Given the description of an element on the screen output the (x, y) to click on. 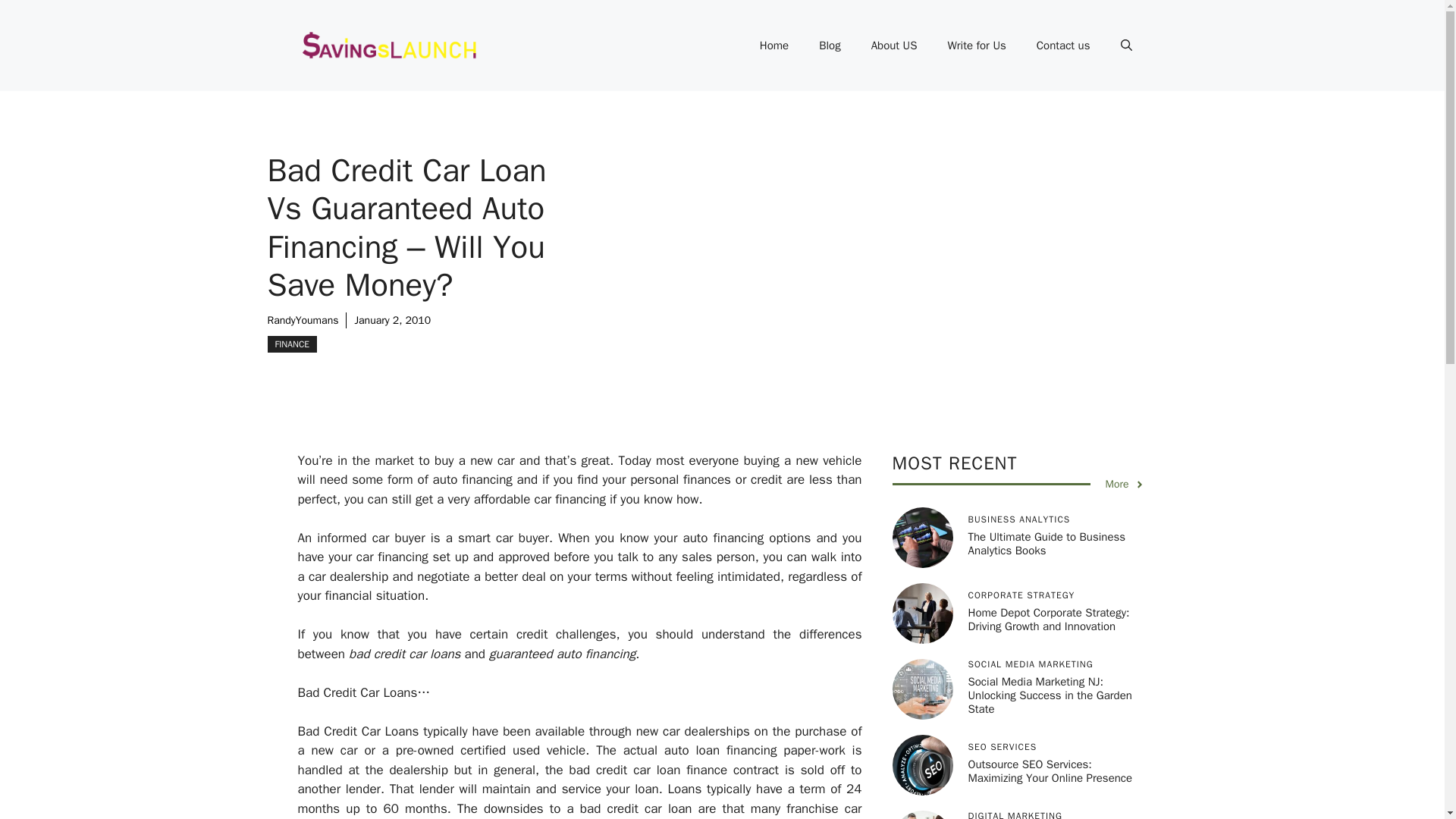
FINANCE (291, 343)
Blog (829, 44)
RandyYoumans (301, 319)
About US (894, 44)
More (1124, 483)
Write for Us (975, 44)
Outsource SEO Services: Maximizing Your Online Presence (1050, 770)
Contact us (1063, 44)
Home (773, 44)
Home Depot Corporate Strategy: Driving Growth and Innovation (1048, 619)
The Ultimate Guide to Business Analytics Books (1046, 543)
